Given the description of an element on the screen output the (x, y) to click on. 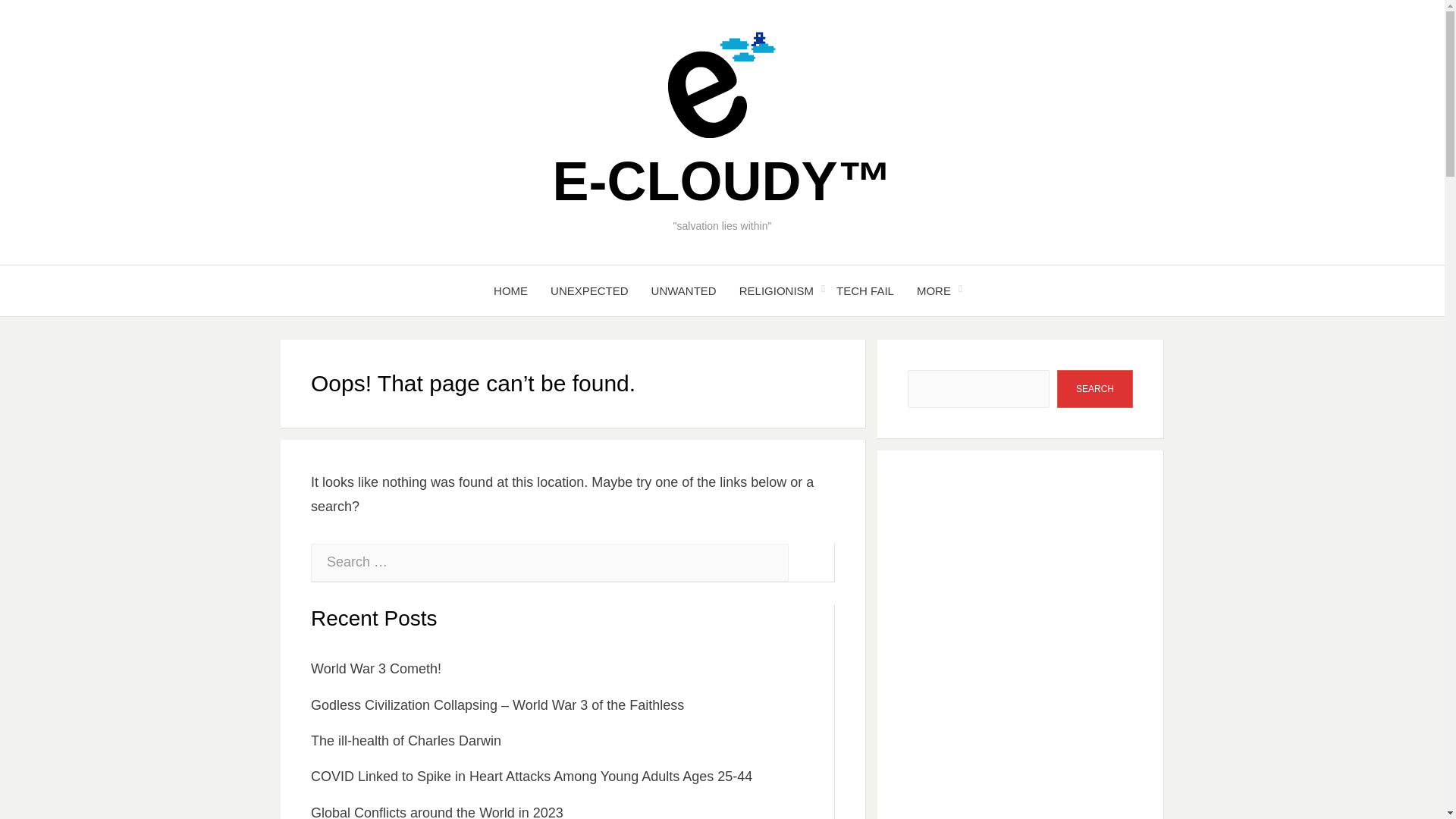
UNWANTED (684, 290)
The ill-health of Charles Darwin (405, 740)
HOME (509, 290)
RELIGIONISM (776, 290)
Global Conflicts around the World in 2023 (437, 812)
MORE (933, 290)
UNEXPECTED (589, 290)
Search for: (550, 562)
World War 3 Cometh! (376, 668)
